Given the description of an element on the screen output the (x, y) to click on. 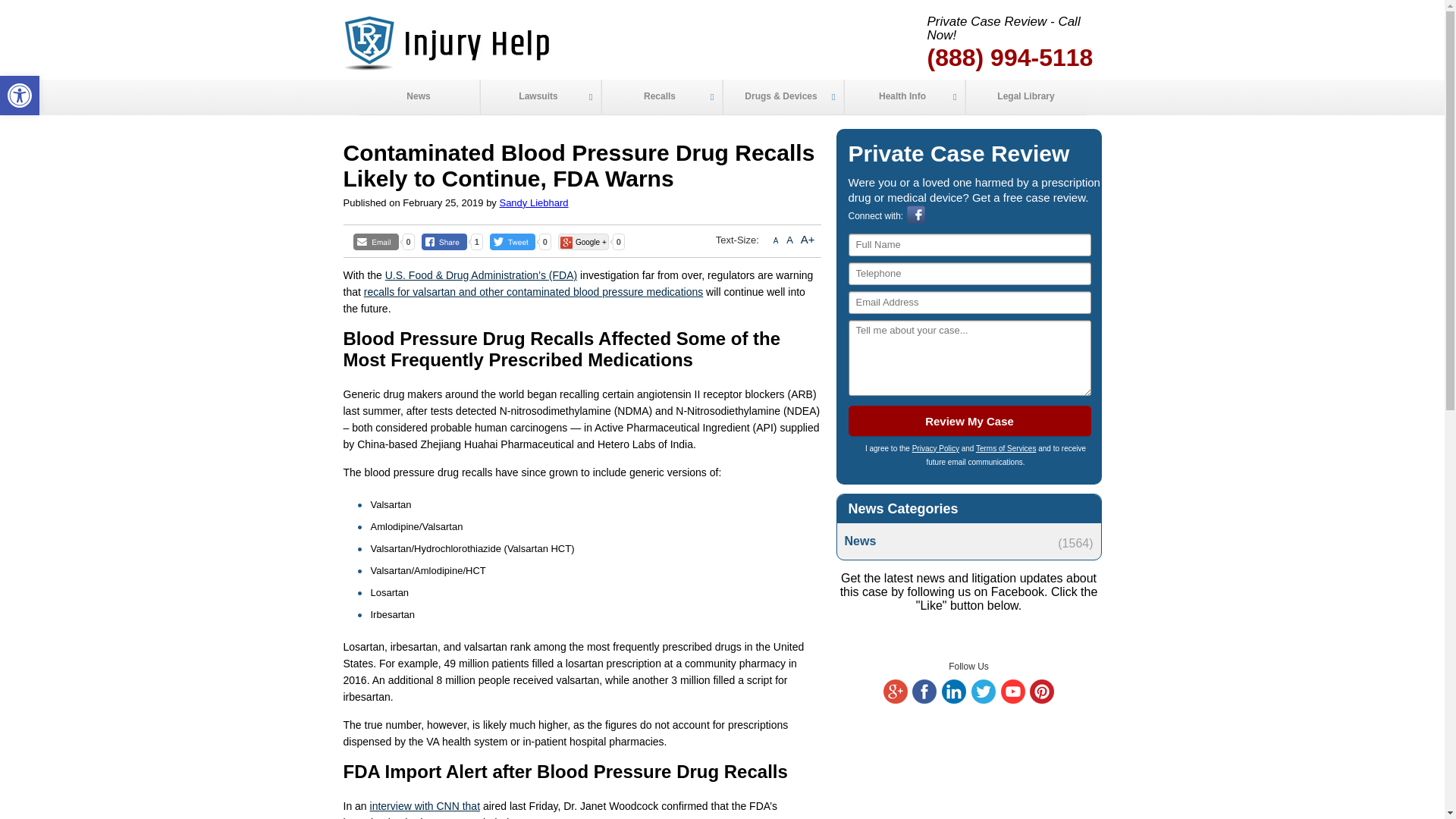
Health Info (903, 97)
Lawsuits (539, 97)
RXInjuryHelp.com on Facebook (924, 700)
News (418, 97)
Recalls (660, 97)
RXInjuryHelp.com on LinkedIn (19, 95)
RXInjuryHelp.com on Twitter (954, 700)
Accessibility Tools (983, 700)
Review My Case (19, 95)
